Given the description of an element on the screen output the (x, y) to click on. 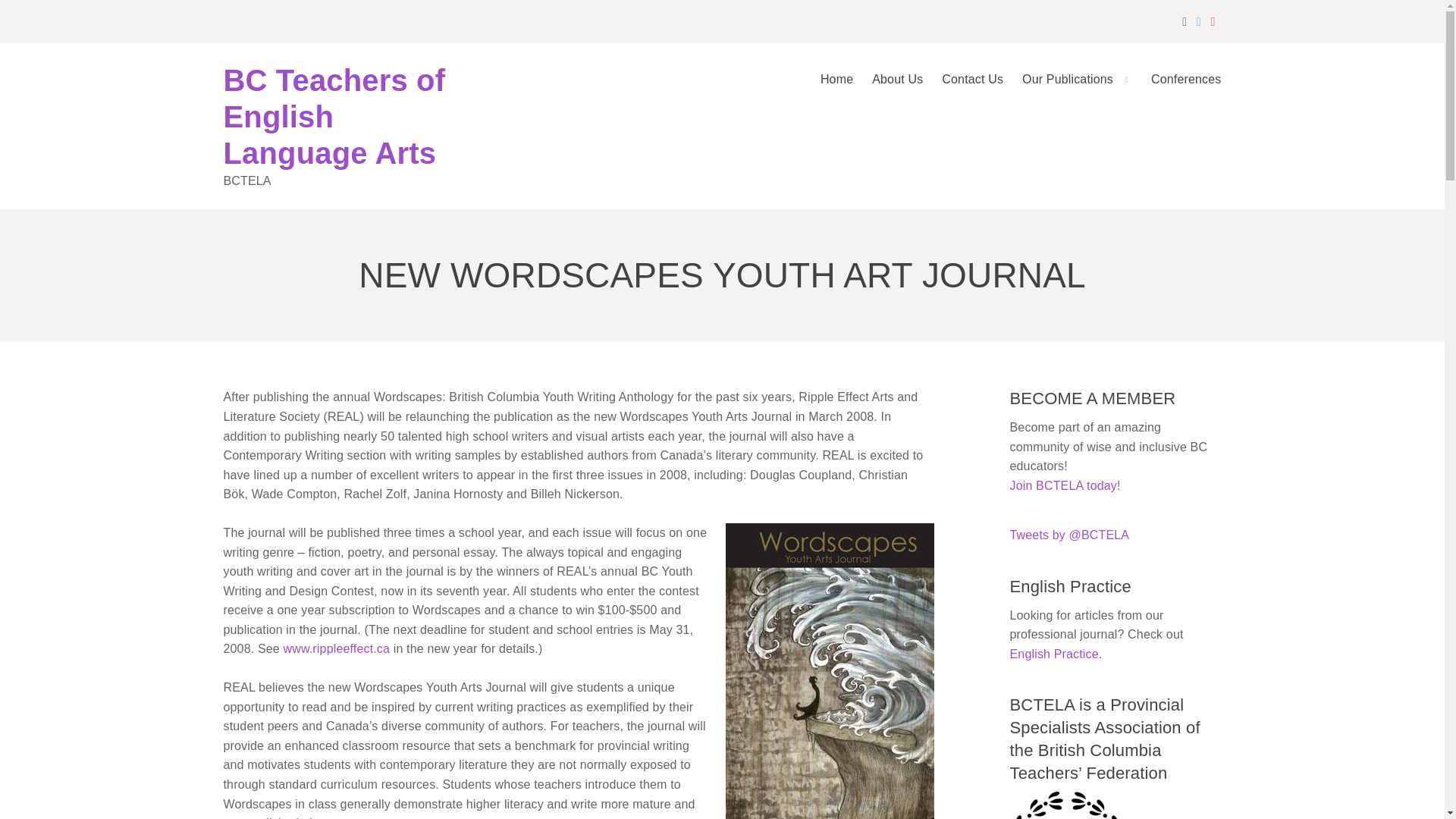
About Us (888, 84)
Conferences (1176, 84)
Home (827, 84)
Join BCTELA today! (1065, 485)
English Practice (1054, 653)
www.rippleeffect.ca (336, 648)
BC Teachers of English Language Arts (333, 116)
Contact Us (963, 84)
Our Publications (1067, 84)
